Given the description of an element on the screen output the (x, y) to click on. 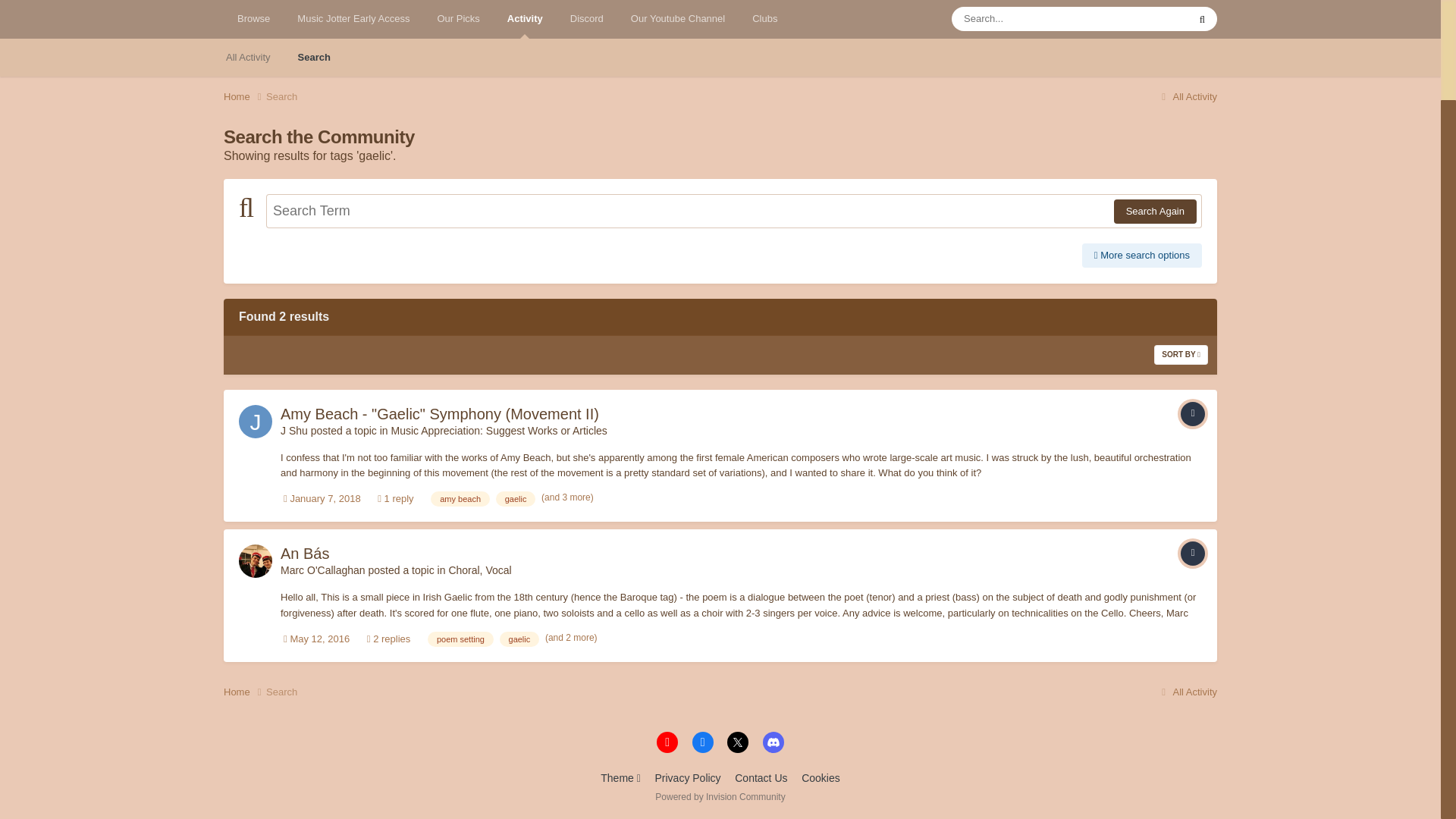
Music Jotter Early Access (353, 19)
Browse (253, 19)
Go to J Shu's profile (255, 421)
Find other content tagged with 'gaelic' (515, 498)
Topic (1192, 553)
Go to Marc O'Callaghan's profile (255, 561)
Discord (586, 19)
Our Youtube Channel (677, 19)
All Activity (247, 57)
Go to Marc O'Callaghan's profile (323, 570)
Activity (524, 19)
Search (313, 57)
Find other content tagged with 'poem setting' (460, 639)
Find other content tagged with 'amy beach' (459, 498)
Home (245, 96)
